Given the description of an element on the screen output the (x, y) to click on. 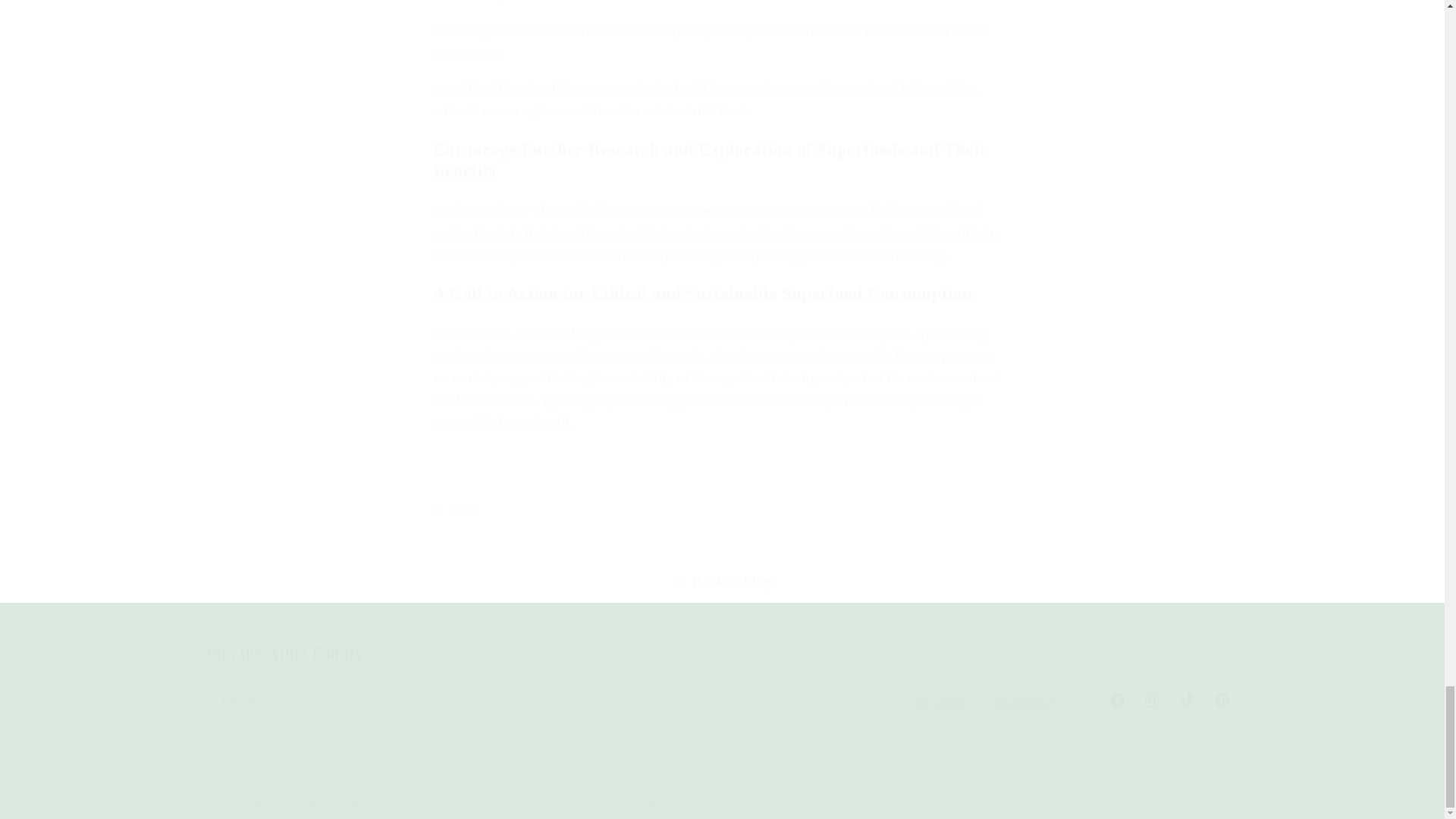
Share (721, 510)
